Given the description of an element on the screen output the (x, y) to click on. 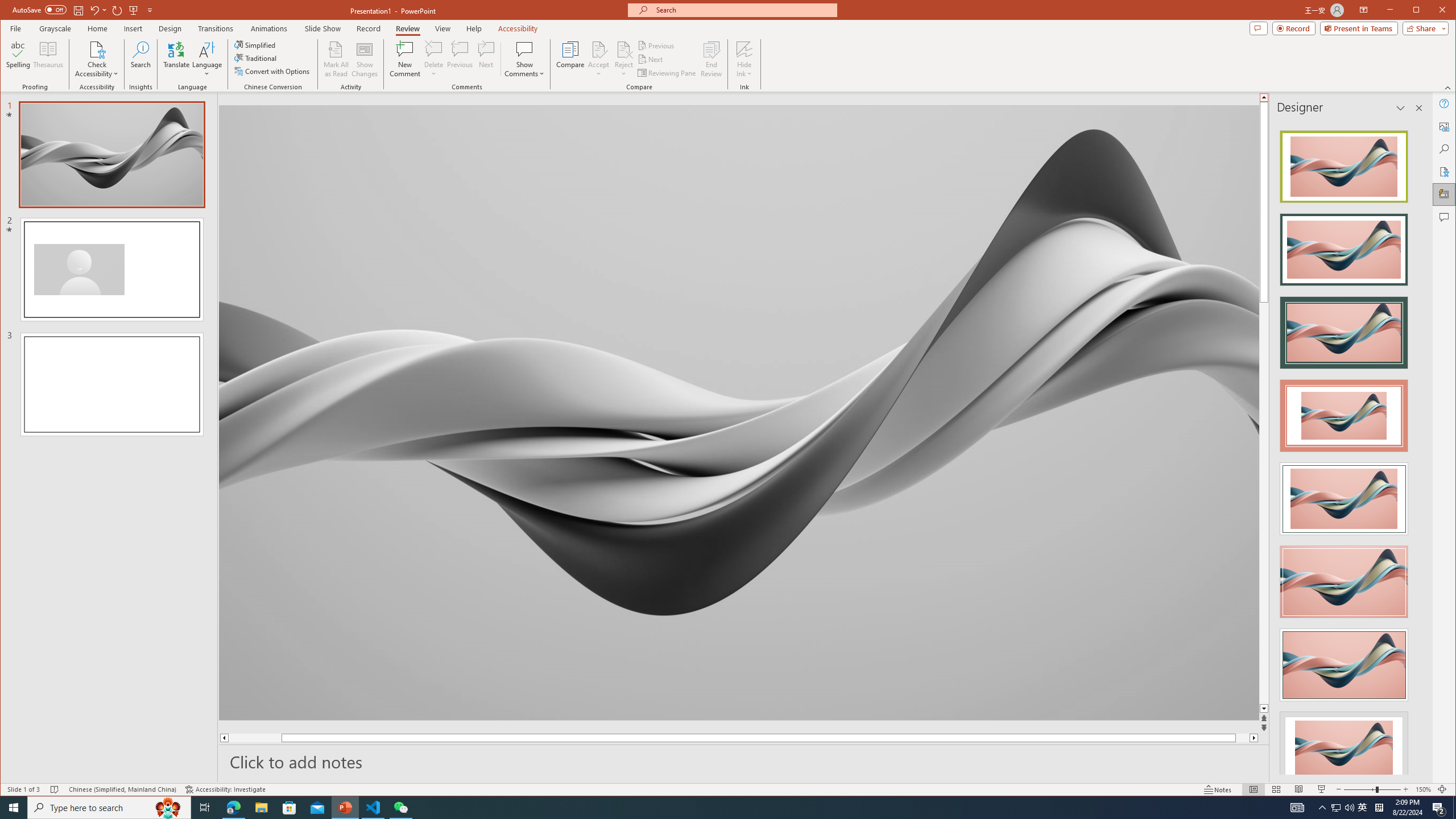
Zoom 150% (1422, 789)
